Given the description of an element on the screen output the (x, y) to click on. 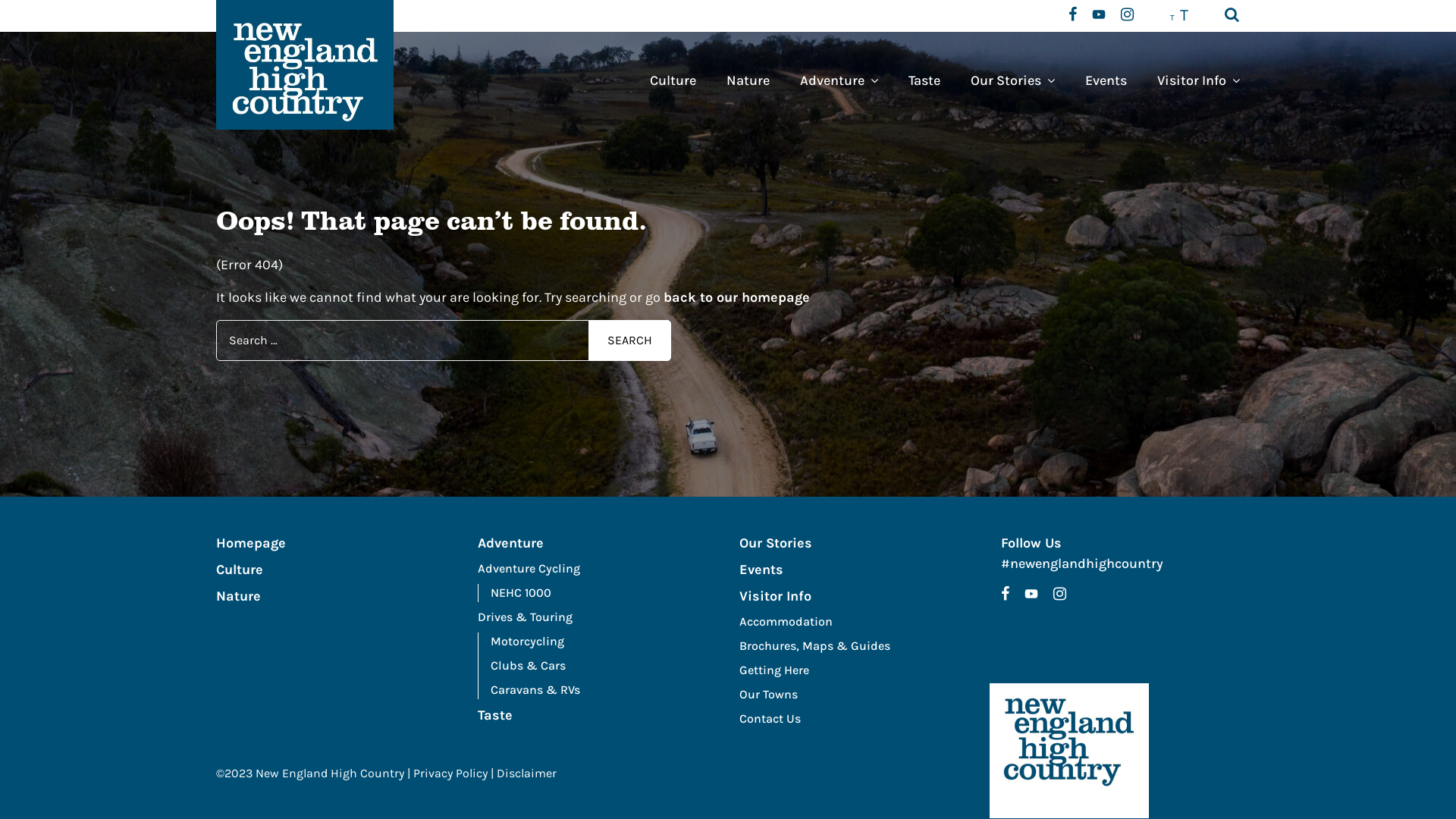
Homepage Element type: text (335, 543)
Events Element type: text (858, 569)
Getting Here Element type: text (858, 670)
#newenglandhighcountry Element type: text (1082, 563)
Motorcycling Element type: text (603, 641)
NEHC 1000 Element type: text (603, 592)
Privacy Policy Element type: text (450, 772)
Contact Us Element type: text (858, 718)
Nature Element type: text (335, 596)
back to our homepage Element type: text (736, 296)
Disclaimer Element type: text (526, 772)
Visitor Info Element type: text (1190, 80)
Adventure Element type: text (838, 80)
Culture Element type: text (335, 569)
T Element type: text (1172, 16)
Visitor Info Element type: text (858, 596)
Search Element type: text (629, 340)
Our Stories Element type: text (1012, 80)
New England High Country Element type: hover (1068, 750)
Events Element type: text (1106, 80)
Taste Element type: text (924, 80)
Our Towns Element type: text (858, 694)
Caravans & RVs Element type: text (603, 689)
Culture Element type: text (672, 80)
Clubs & Cars Element type: text (603, 665)
Our Stories Element type: text (858, 543)
Adventure Cycling Element type: text (596, 568)
Adventure Element type: text (596, 543)
T Element type: text (1183, 15)
Accommodation Element type: text (858, 621)
Drives & Touring Element type: text (596, 617)
Brochures, Maps & Guides Element type: text (858, 646)
Nature Element type: text (747, 80)
Taste Element type: text (596, 715)
Search Element type: hover (1231, 15)
